Given the description of an element on the screen output the (x, y) to click on. 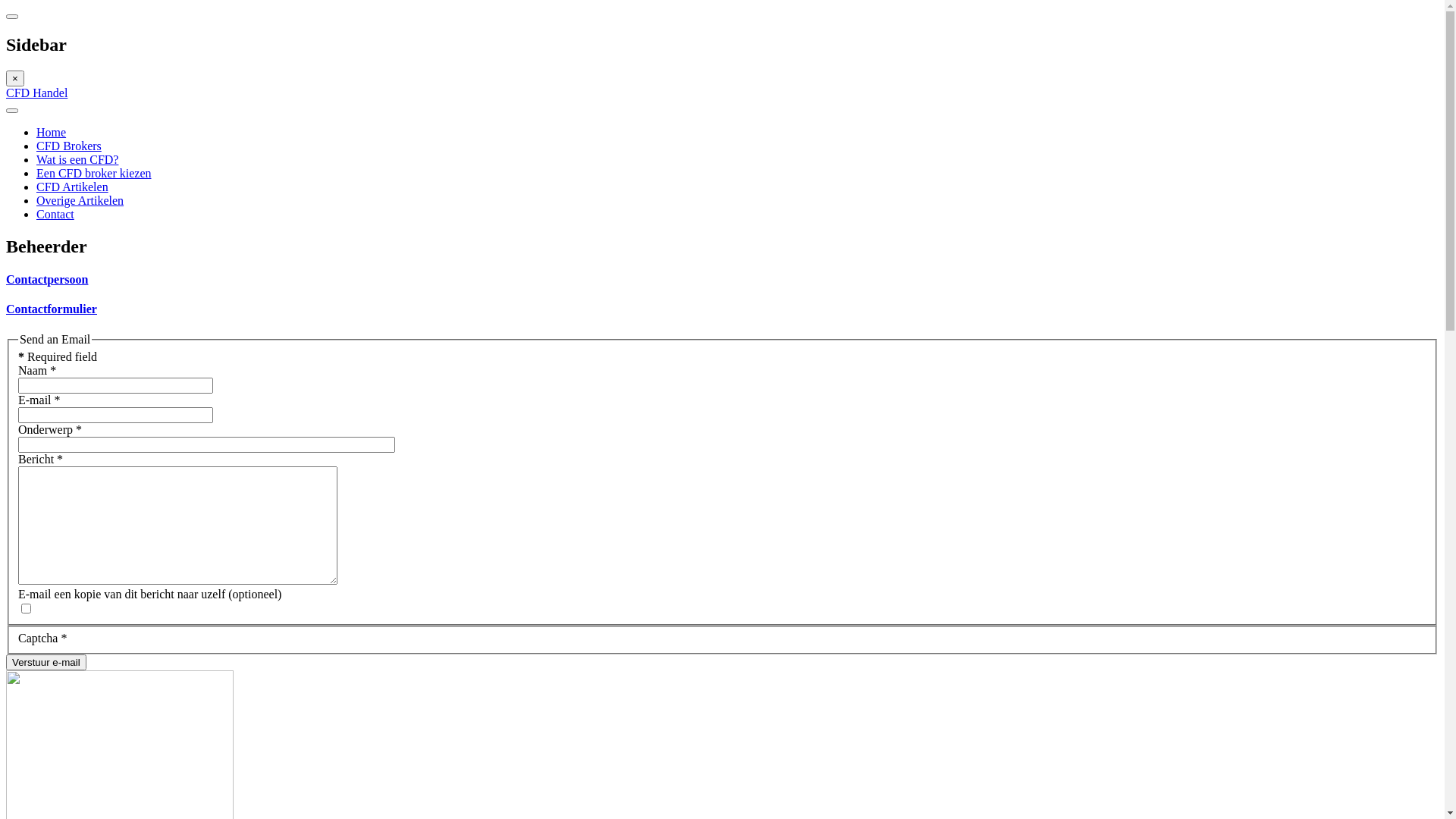
Contactpersoon Element type: text (46, 279)
Een CFD broker kiezen Element type: text (93, 172)
CFD Brokers Element type: text (68, 145)
CFD Handel Element type: text (36, 92)
Overige Artikelen Element type: text (79, 200)
Contact Element type: text (55, 213)
Verstuur e-mail Element type: text (46, 662)
Contactformulier Element type: text (51, 308)
Home Element type: text (50, 131)
Wat is een CFD? Element type: text (77, 159)
CFD Artikelen Element type: text (72, 186)
